Given the description of an element on the screen output the (x, y) to click on. 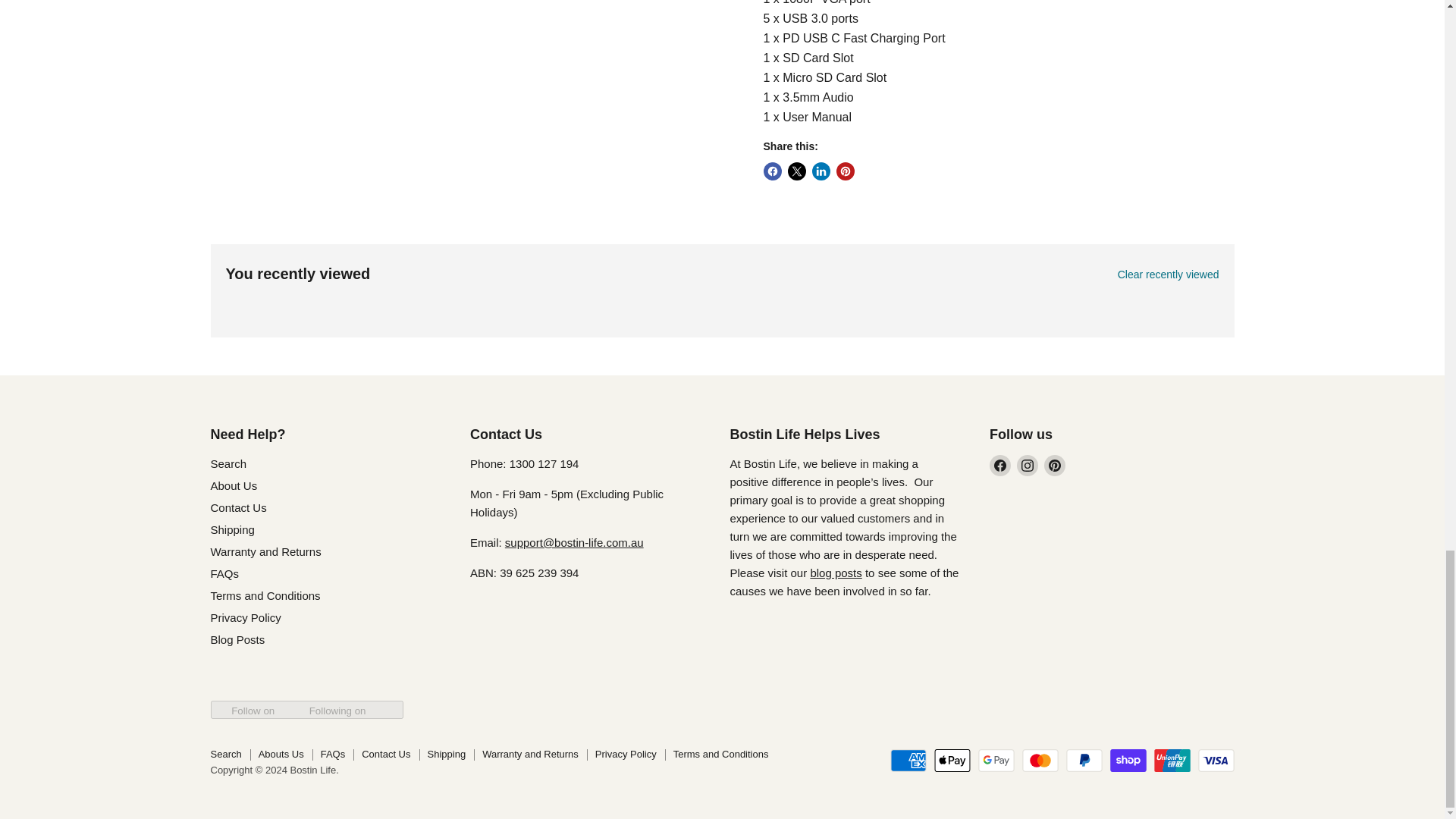
News (835, 572)
Pinterest (1054, 465)
Instagram (1027, 465)
Facebook (1000, 465)
American Express (907, 760)
